Given the description of an element on the screen output the (x, y) to click on. 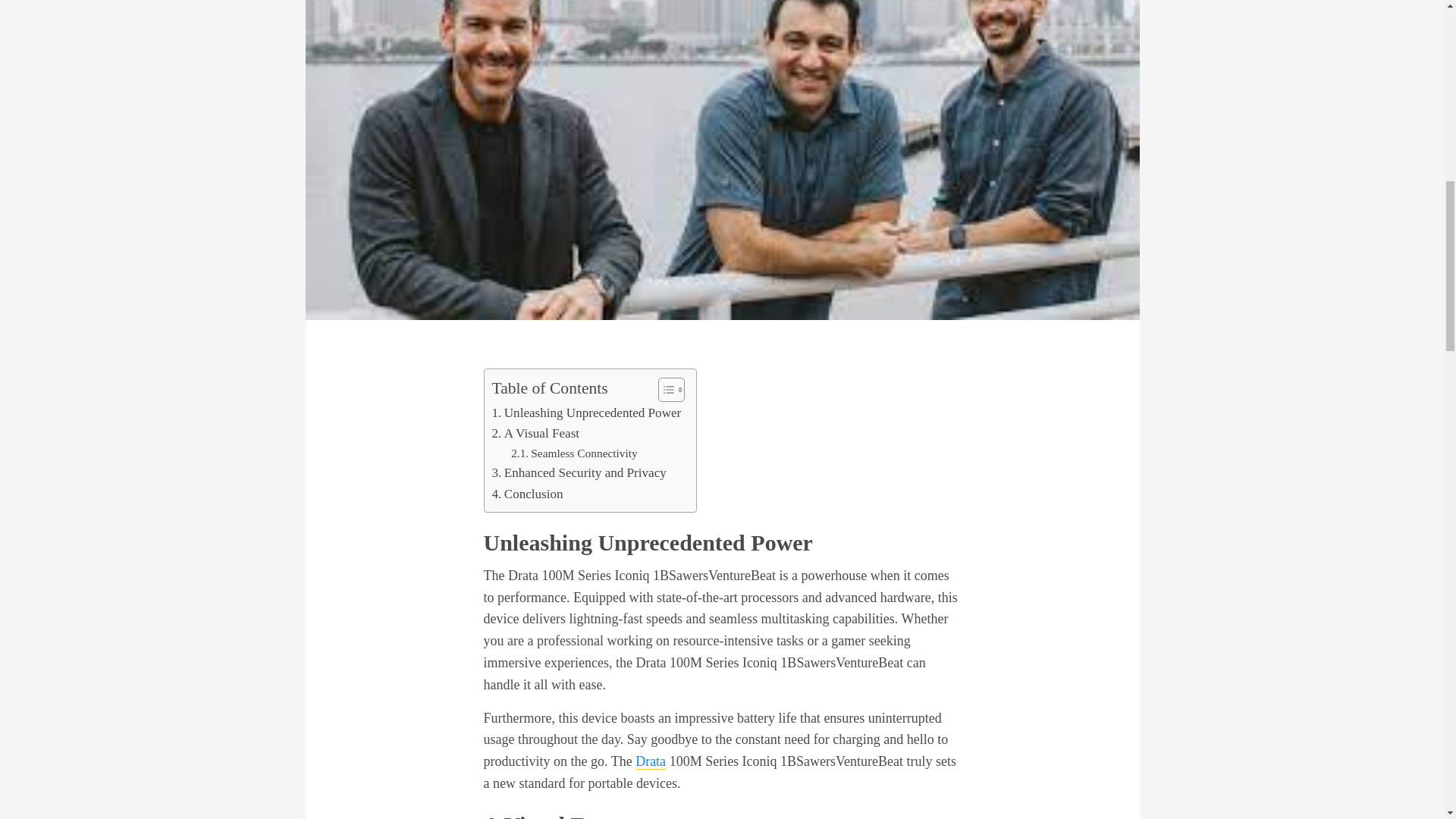
Enhanced Security and Privacy (578, 472)
A Visual Feast (535, 433)
Conclusion (527, 494)
Seamless Connectivity (574, 453)
Unleashing Unprecedented Power (586, 412)
